Given the description of an element on the screen output the (x, y) to click on. 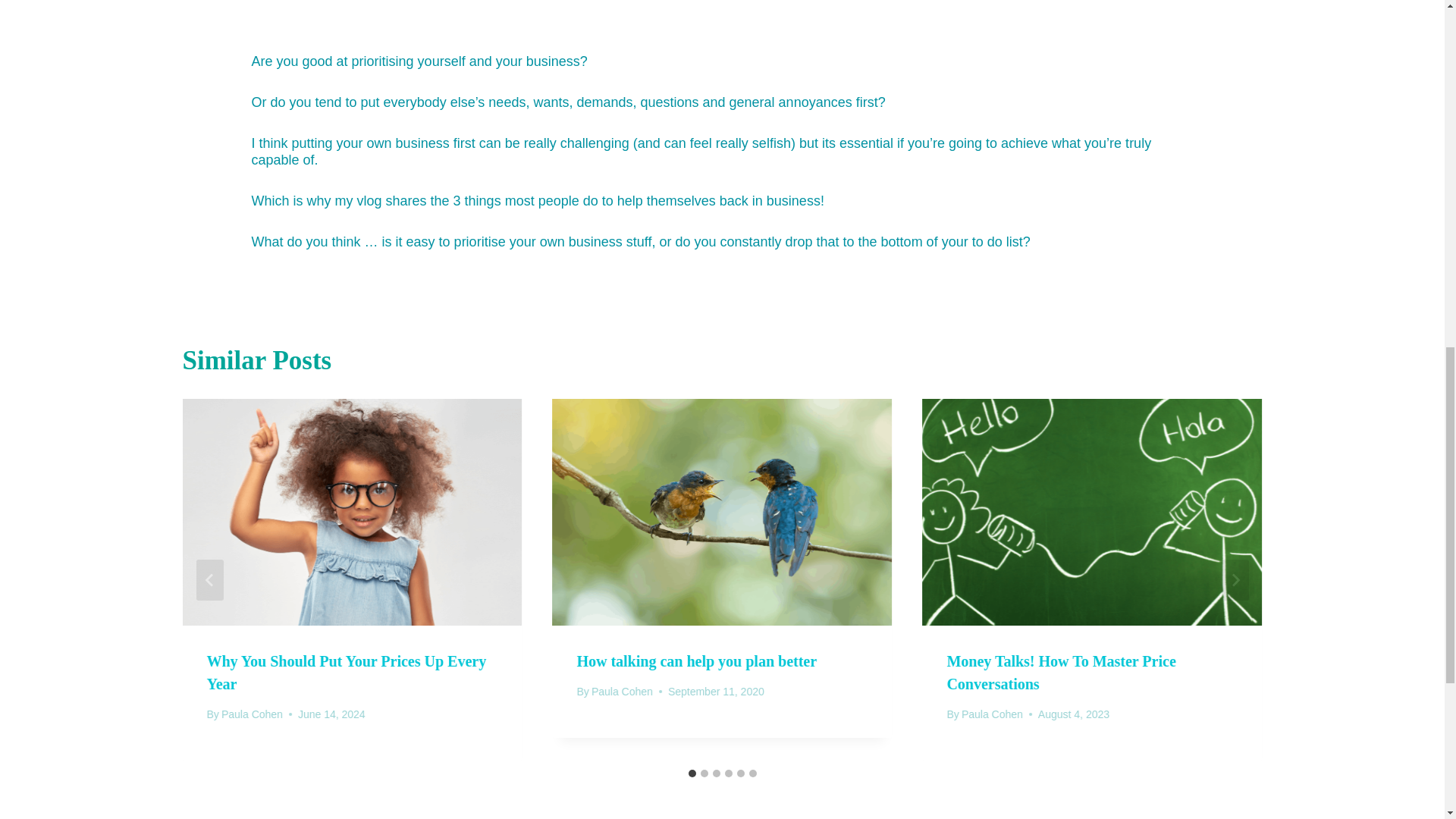
3 Ways You're Holding Back Your Business (722, 14)
